Given the description of an element on the screen output the (x, y) to click on. 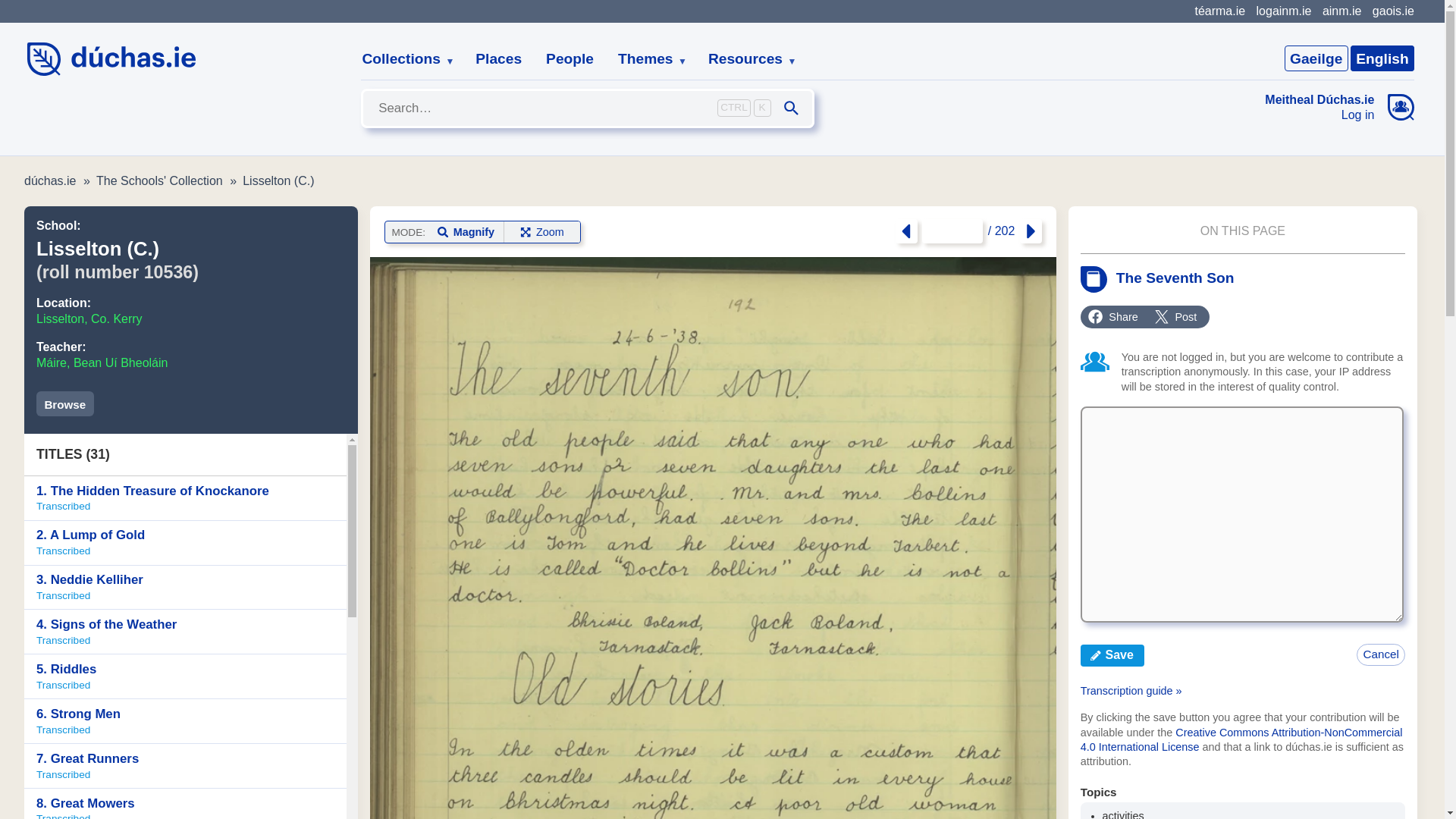
Log in (1319, 114)
gaois.ie (1393, 11)
logainm.ie (1283, 11)
Places (498, 58)
The Schools' Collection (159, 180)
Themes (646, 59)
ainm.ie (1341, 11)
People (185, 542)
Resources (569, 58)
Collections (745, 59)
Gaeilge (401, 59)
English (1316, 58)
Browse (185, 497)
